Given the description of an element on the screen output the (x, y) to click on. 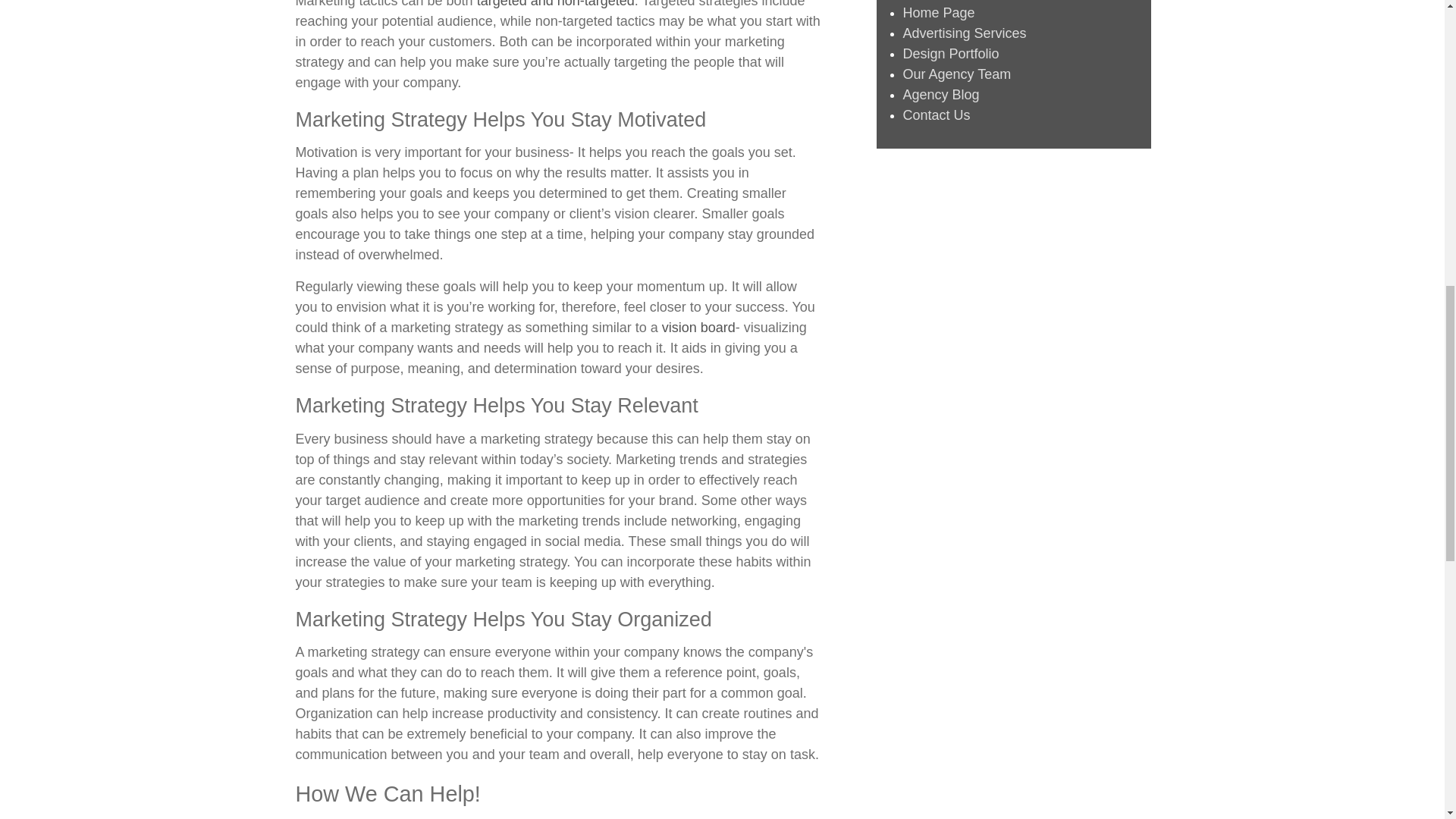
Contact Us (935, 114)
targeted and non-targeted (555, 4)
Design Portfolio (950, 53)
vision board (698, 327)
Home Page (938, 12)
Our Agency Team (956, 73)
Agency Blog (940, 94)
Advertising Services (964, 32)
